Given the description of an element on the screen output the (x, y) to click on. 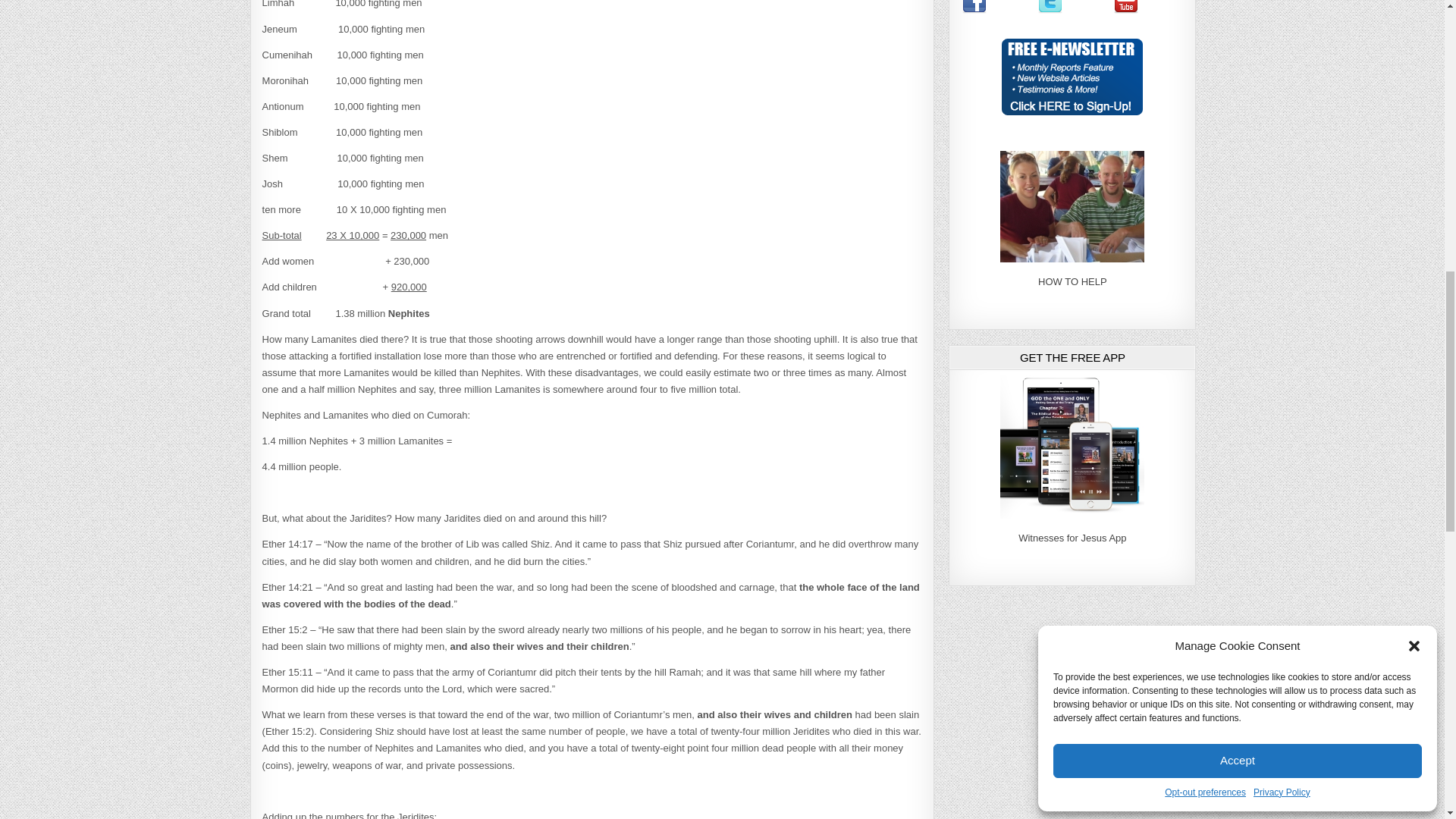
Twitter (1050, 6)
Facebook (974, 6)
Newsletter (1072, 112)
YouTube (1125, 6)
Facebook For Witnesses for Jesus (974, 9)
Newsletter Sign-up! (1072, 76)
